Given the description of an element on the screen output the (x, y) to click on. 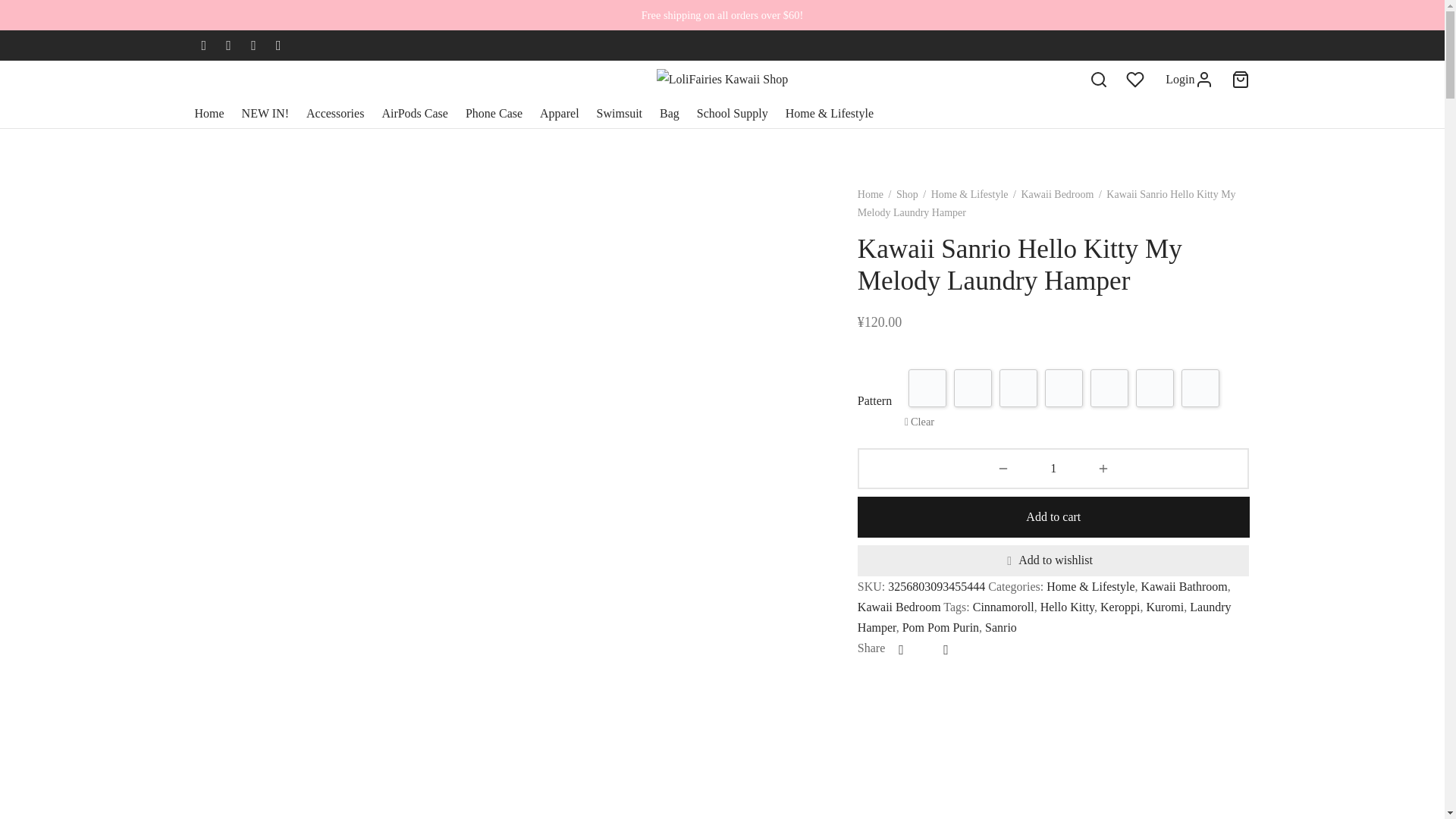
Cart (1240, 79)
Swimsuit (619, 113)
Login (1189, 78)
Apparel (559, 113)
Shop (907, 194)
NEW IN! (264, 113)
Home (208, 113)
1 (1053, 468)
Phone Case (493, 113)
Kawaii Bedroom (1056, 194)
School Supply (732, 113)
Accessories (334, 113)
AirPods Case (414, 113)
Home (870, 194)
